Given the description of an element on the screen output the (x, y) to click on. 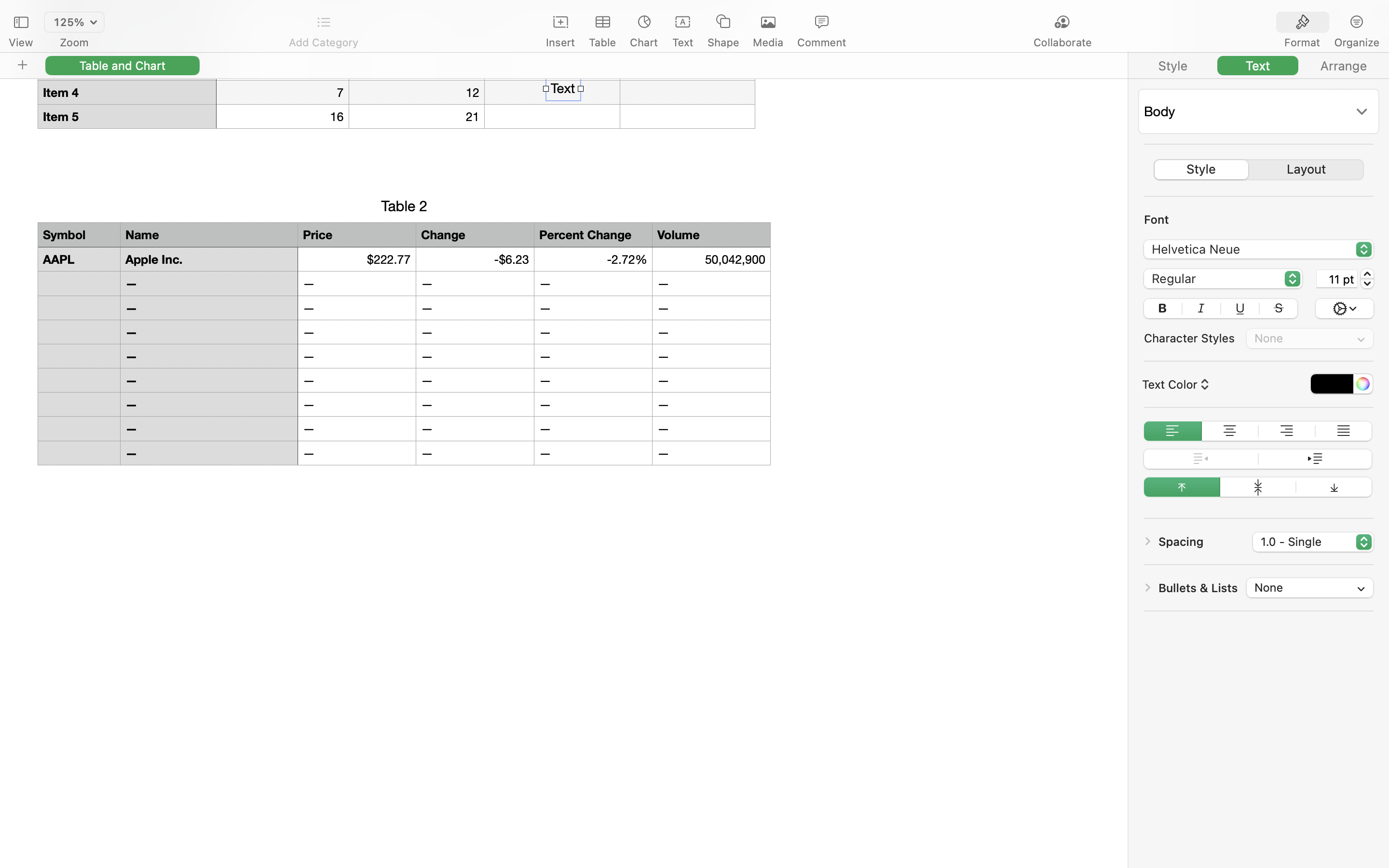
Table and Chart Element type: AXStaticText (122, 64)
Add Category Element type: AXStaticText (322, 42)
